Given the description of an element on the screen output the (x, y) to click on. 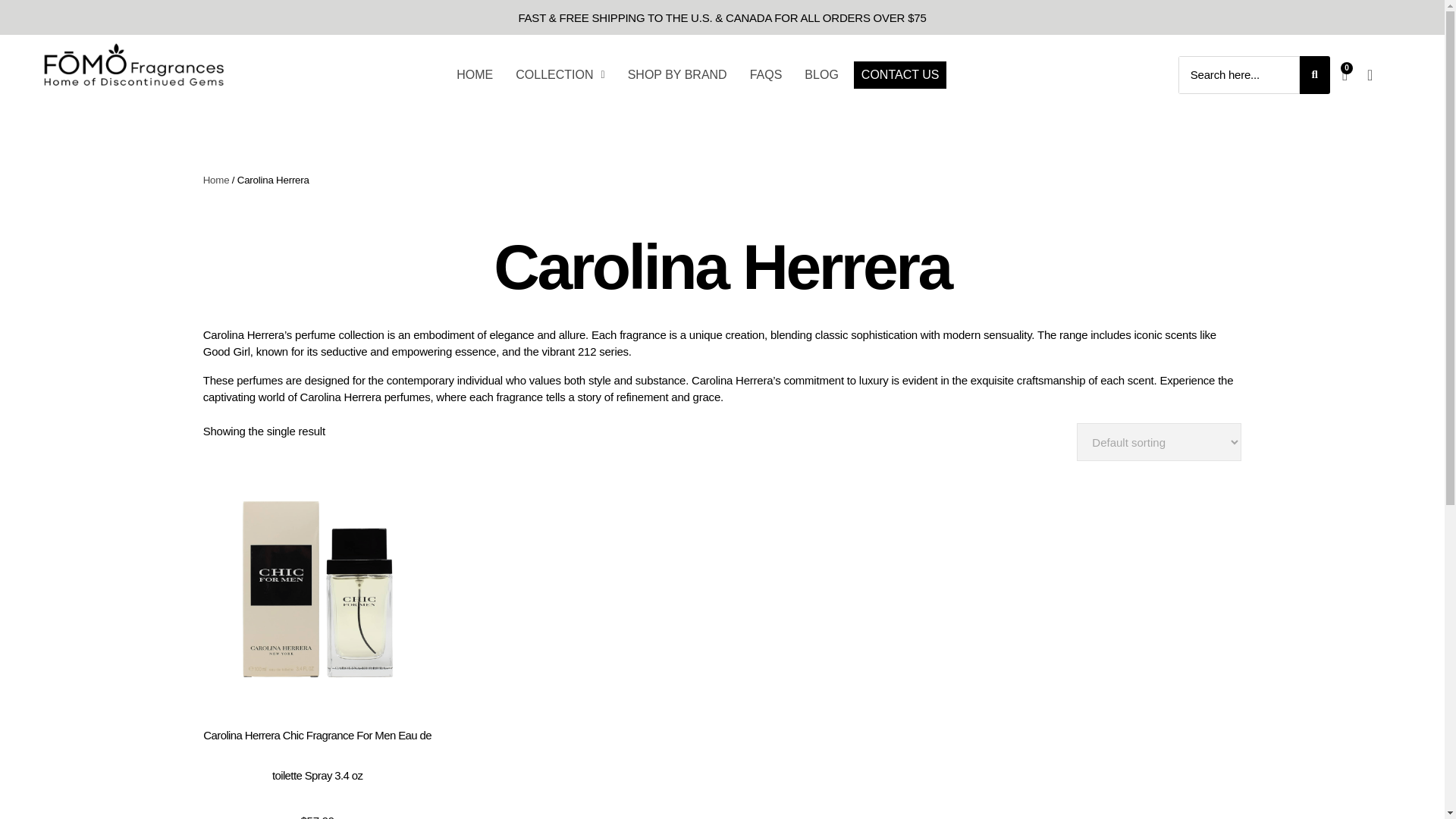
Search (1238, 75)
CONTACT US (900, 73)
Home (216, 179)
COLLECTION (559, 73)
FAQS (766, 73)
HOME (474, 73)
SHOP BY BRAND (677, 73)
BLOG (820, 73)
